Given the description of an element on the screen output the (x, y) to click on. 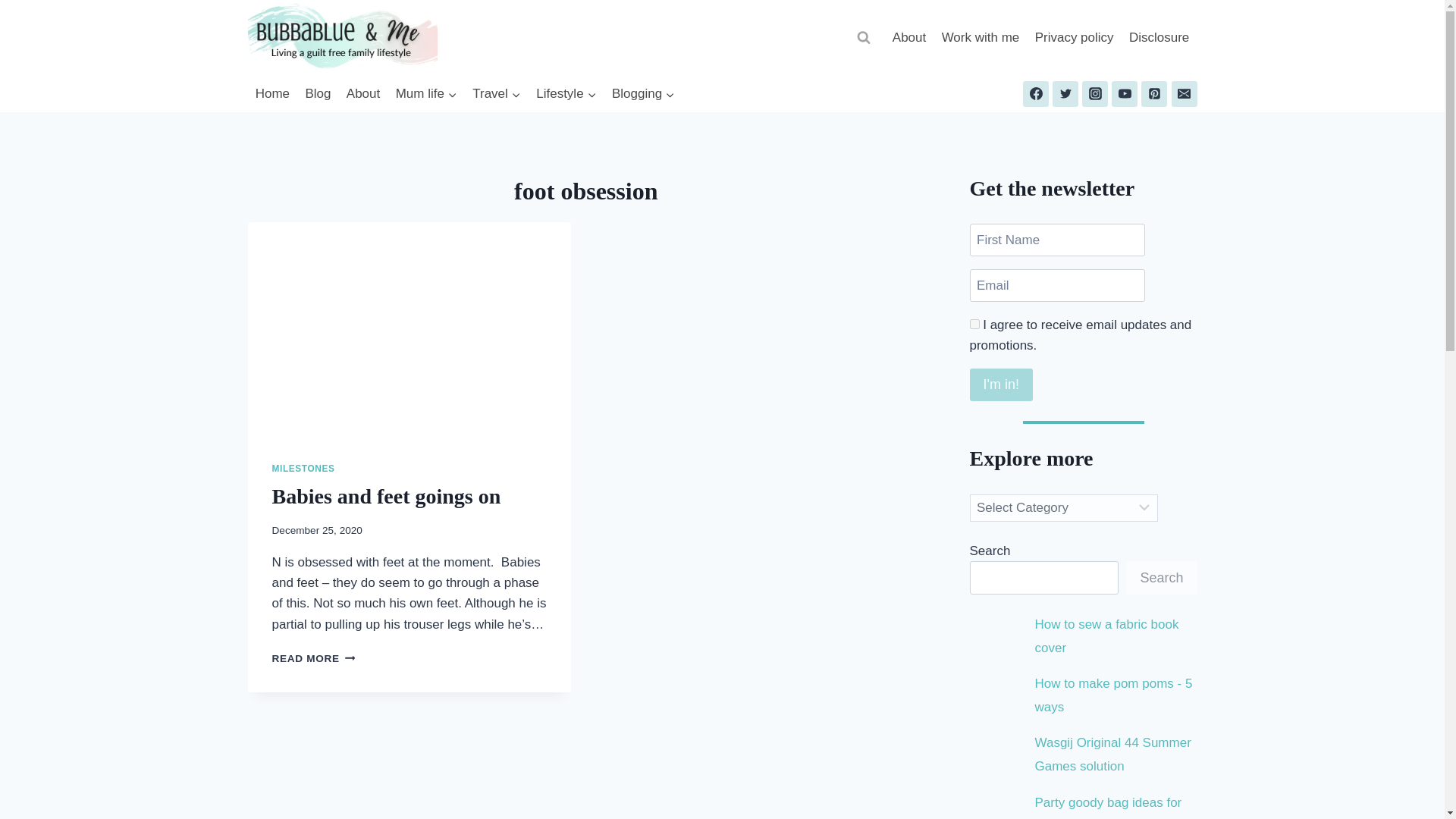
Privacy policy (1073, 37)
Wasgij Original 44 Summer Games solution (1113, 754)
Babies and feet goings on (385, 495)
Travel (496, 94)
How to sew a fabric book cover (1107, 636)
Work with me (979, 37)
Party goody bag ideas for 10-11 year olds (1108, 807)
About (363, 94)
MILESTONES (302, 468)
About (909, 37)
